Given the description of an element on the screen output the (x, y) to click on. 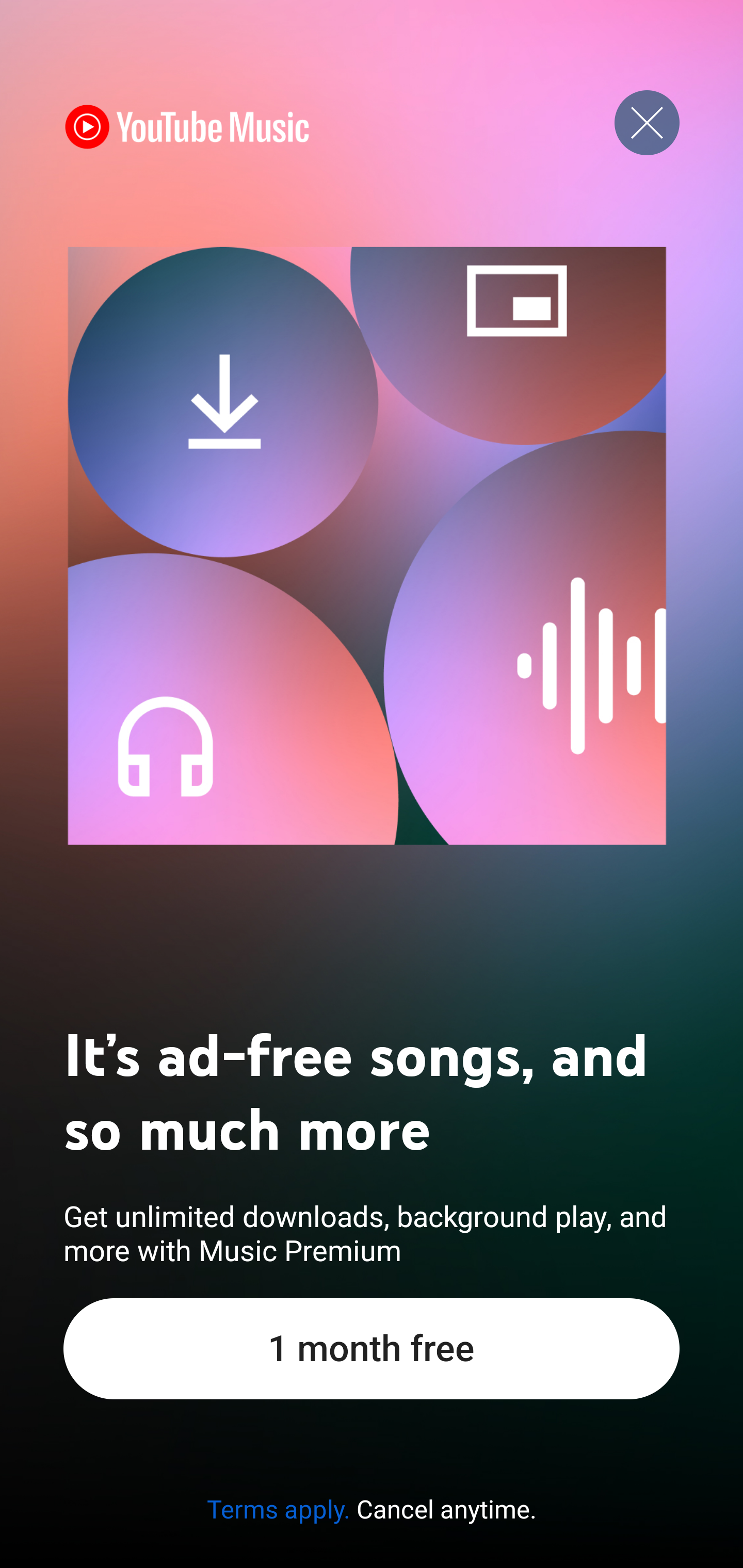
Close (646, 122)
1 month free (371, 1348)
